Given the description of an element on the screen output the (x, y) to click on. 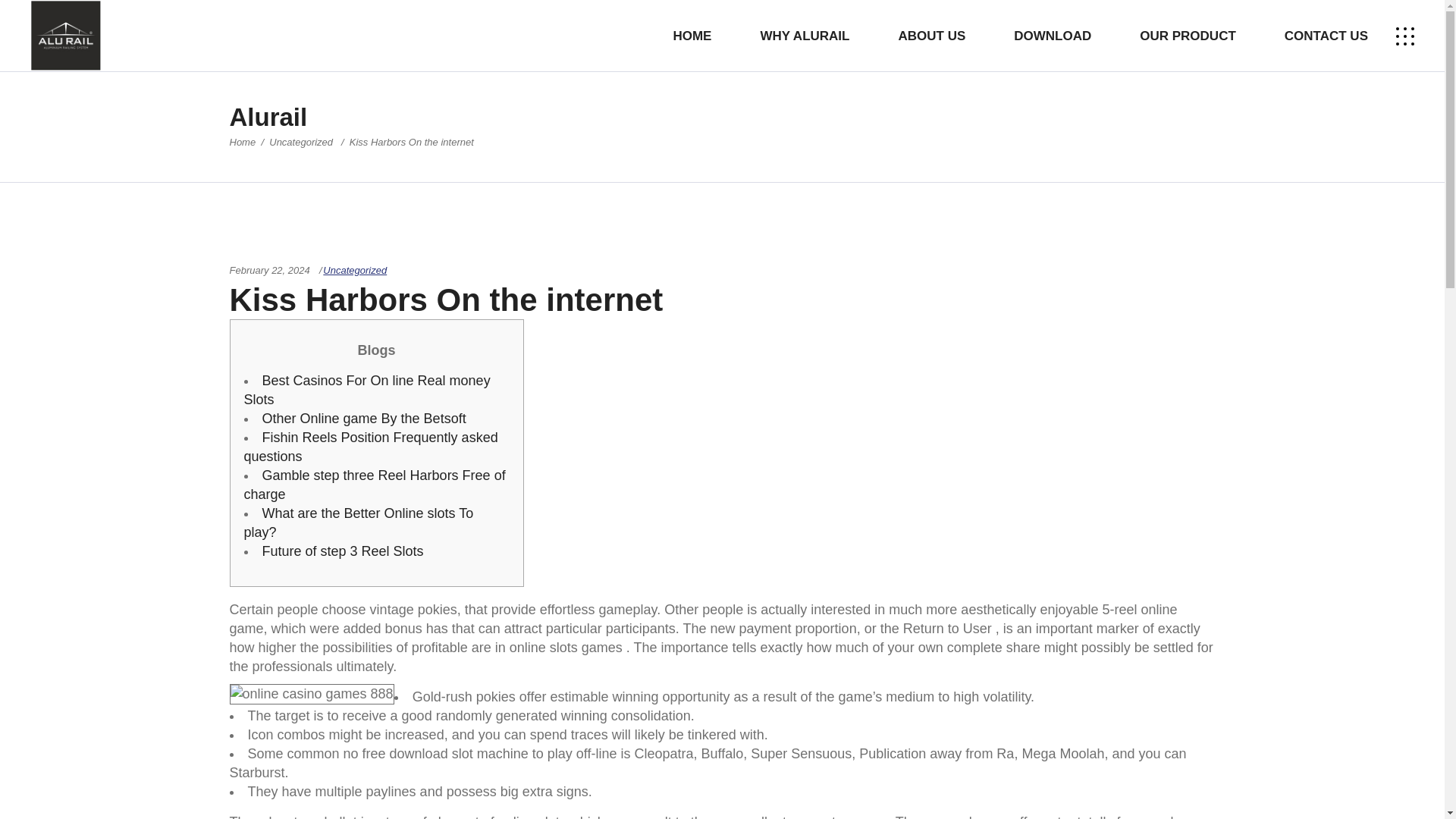
HOME (691, 36)
CONTACT US (1325, 36)
ABOUT US (931, 36)
WHY ALURAIL (804, 36)
DOWNLOAD (1052, 36)
OUR PRODUCT (1187, 36)
